Given the description of an element on the screen output the (x, y) to click on. 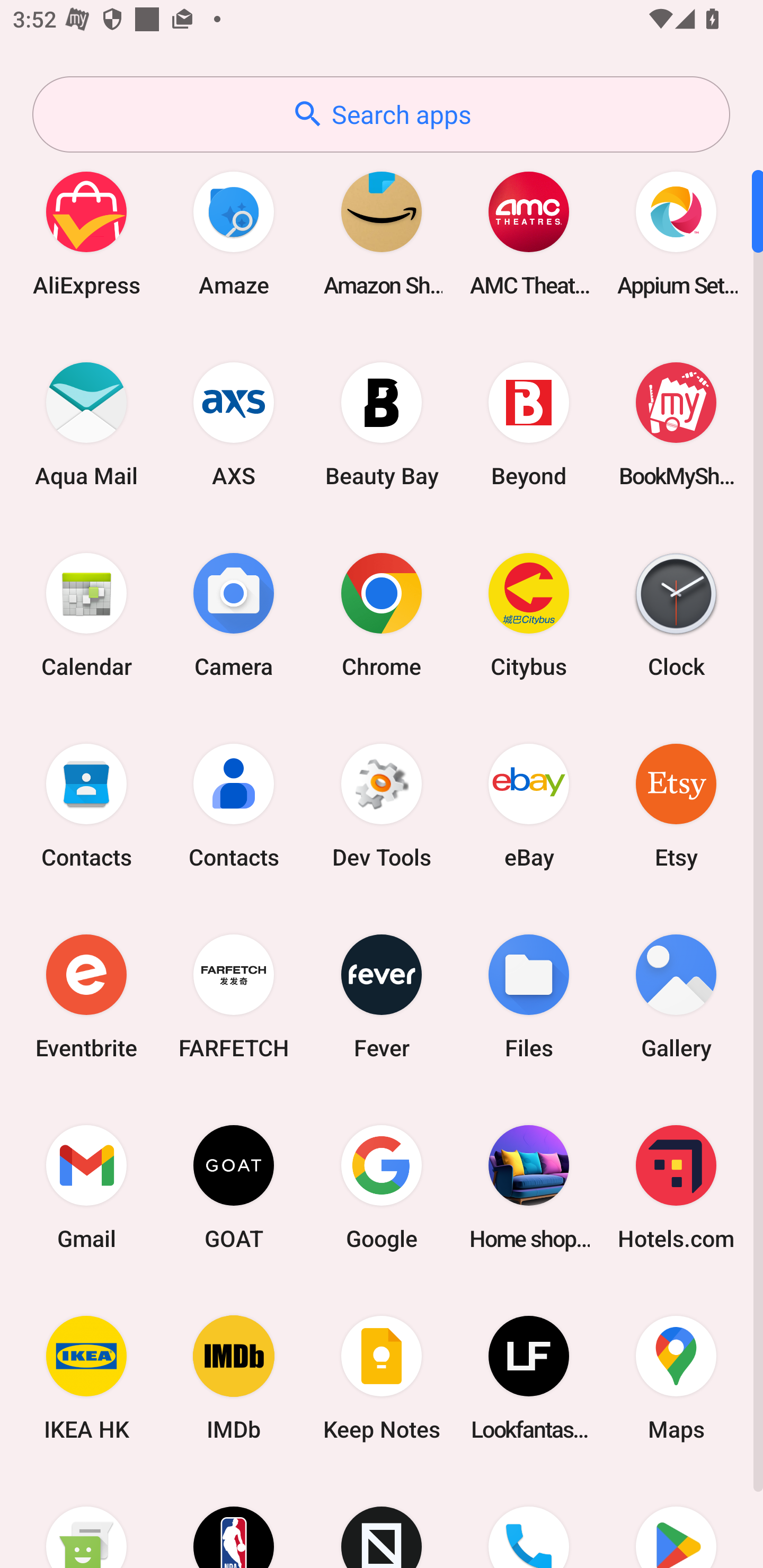
  Search apps (381, 114)
AliExpress (86, 233)
Amaze (233, 233)
Amazon Shopping (381, 233)
AMC Theatres (528, 233)
Appium Settings (676, 233)
Aqua Mail (86, 424)
AXS (233, 424)
Beauty Bay (381, 424)
Beyond (528, 424)
BookMyShow (676, 424)
Calendar (86, 614)
Camera (233, 614)
Chrome (381, 614)
Citybus (528, 614)
Clock (676, 614)
Contacts (86, 805)
Contacts (233, 805)
Dev Tools (381, 805)
eBay (528, 805)
Etsy (676, 805)
Eventbrite (86, 996)
FARFETCH (233, 996)
Fever (381, 996)
Files (528, 996)
Gallery (676, 996)
Gmail (86, 1186)
GOAT (233, 1186)
Google (381, 1186)
Home shopping (528, 1186)
Hotels.com (676, 1186)
IKEA HK (86, 1377)
IMDb (233, 1377)
Keep Notes (381, 1377)
Lookfantastic (528, 1377)
Maps (676, 1377)
